Given the description of an element on the screen output the (x, y) to click on. 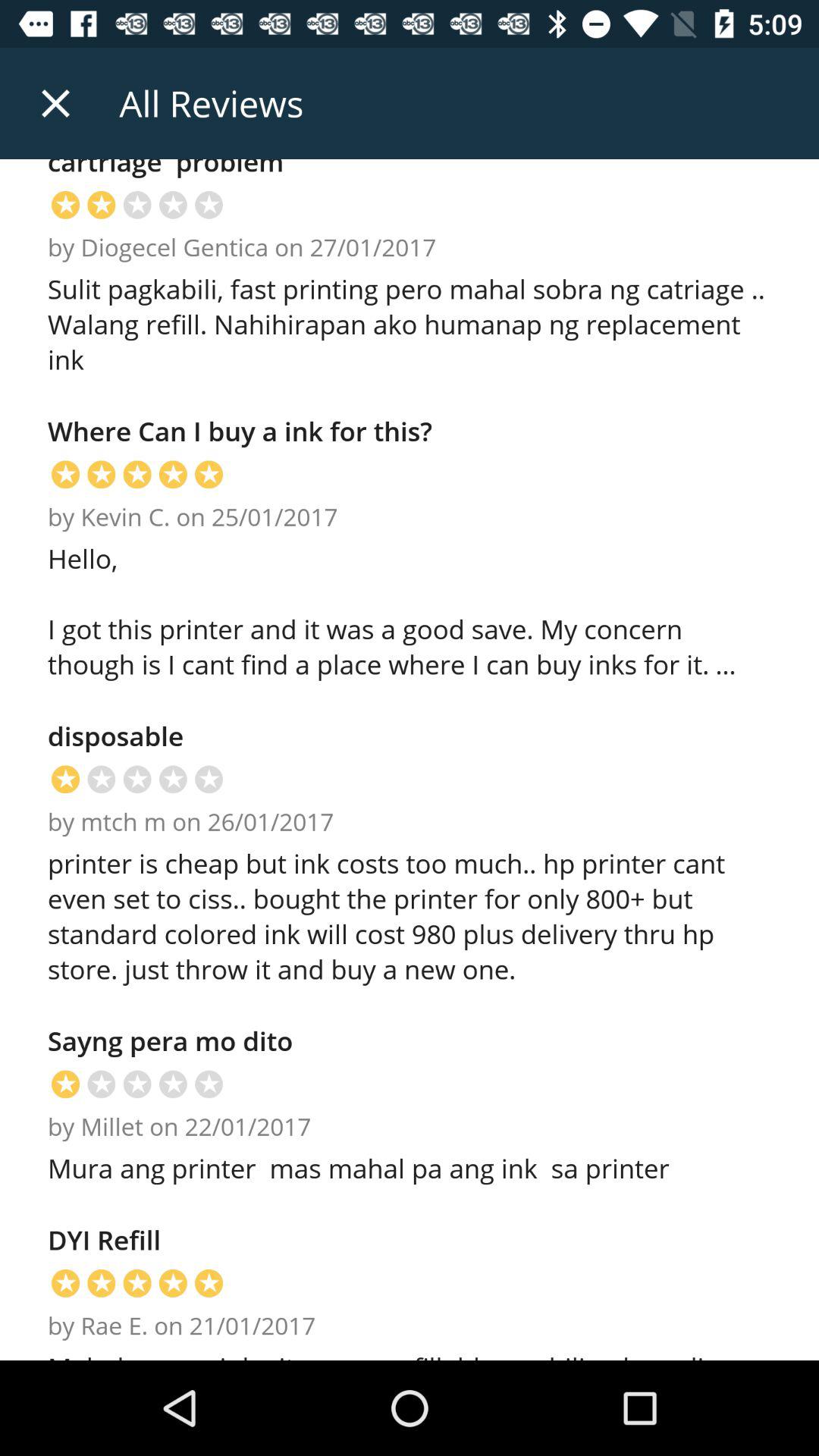
press app next to the all reviews icon (55, 103)
